Given the description of an element on the screen output the (x, y) to click on. 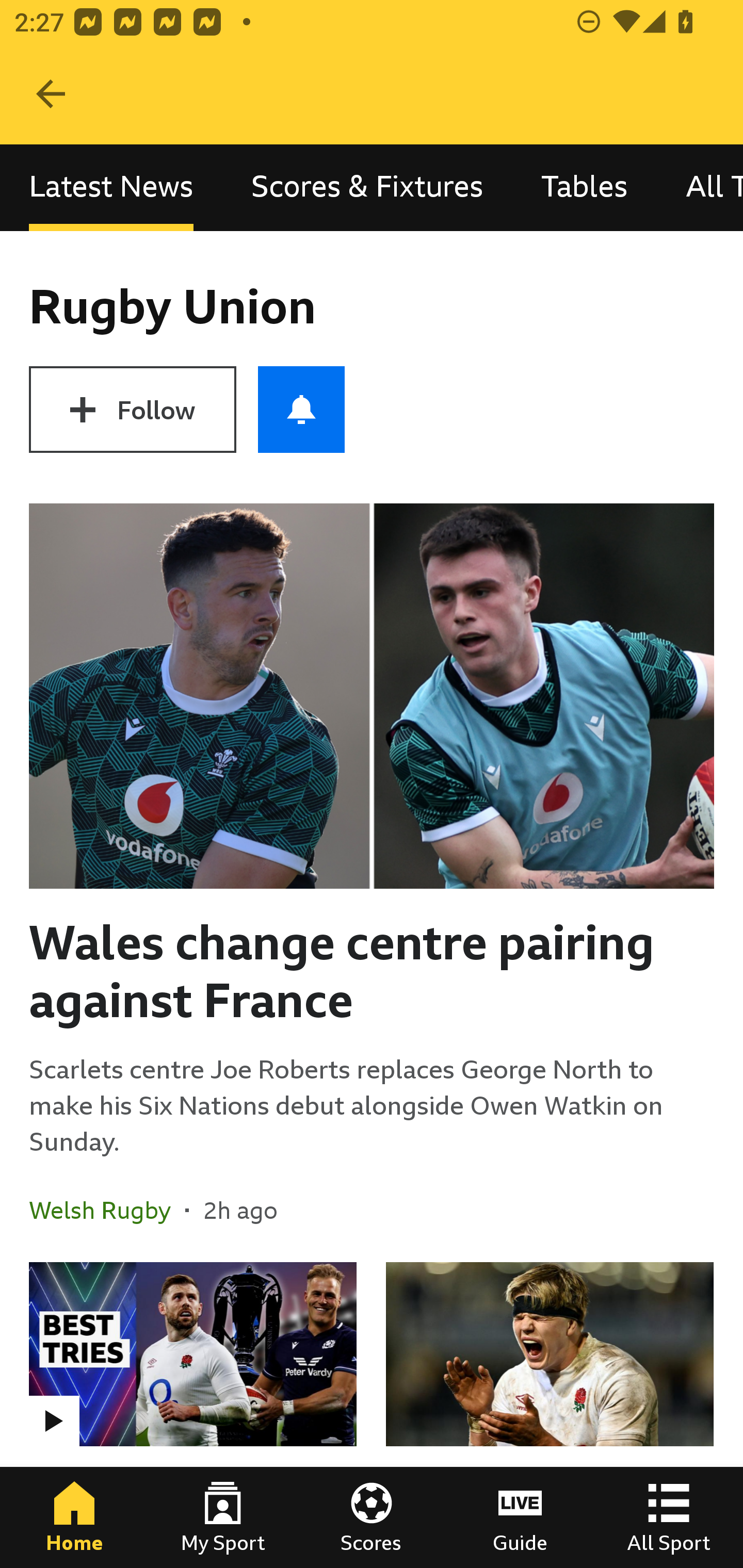
Navigate up (50, 93)
Latest News, selected Latest News (111, 187)
Scores & Fixtures (367, 187)
Tables (584, 187)
All Teams (699, 187)
Follow Rugby Union Follow (132, 409)
Push notifications for Rugby Union (300, 409)
Welsh Rugby In the section Welsh Rugby (106, 1209)
Watch Watch best tries of Six Nations so far (192, 1415)
My Sport (222, 1517)
Scores (371, 1517)
Guide (519, 1517)
All Sport (668, 1517)
